Given the description of an element on the screen output the (x, y) to click on. 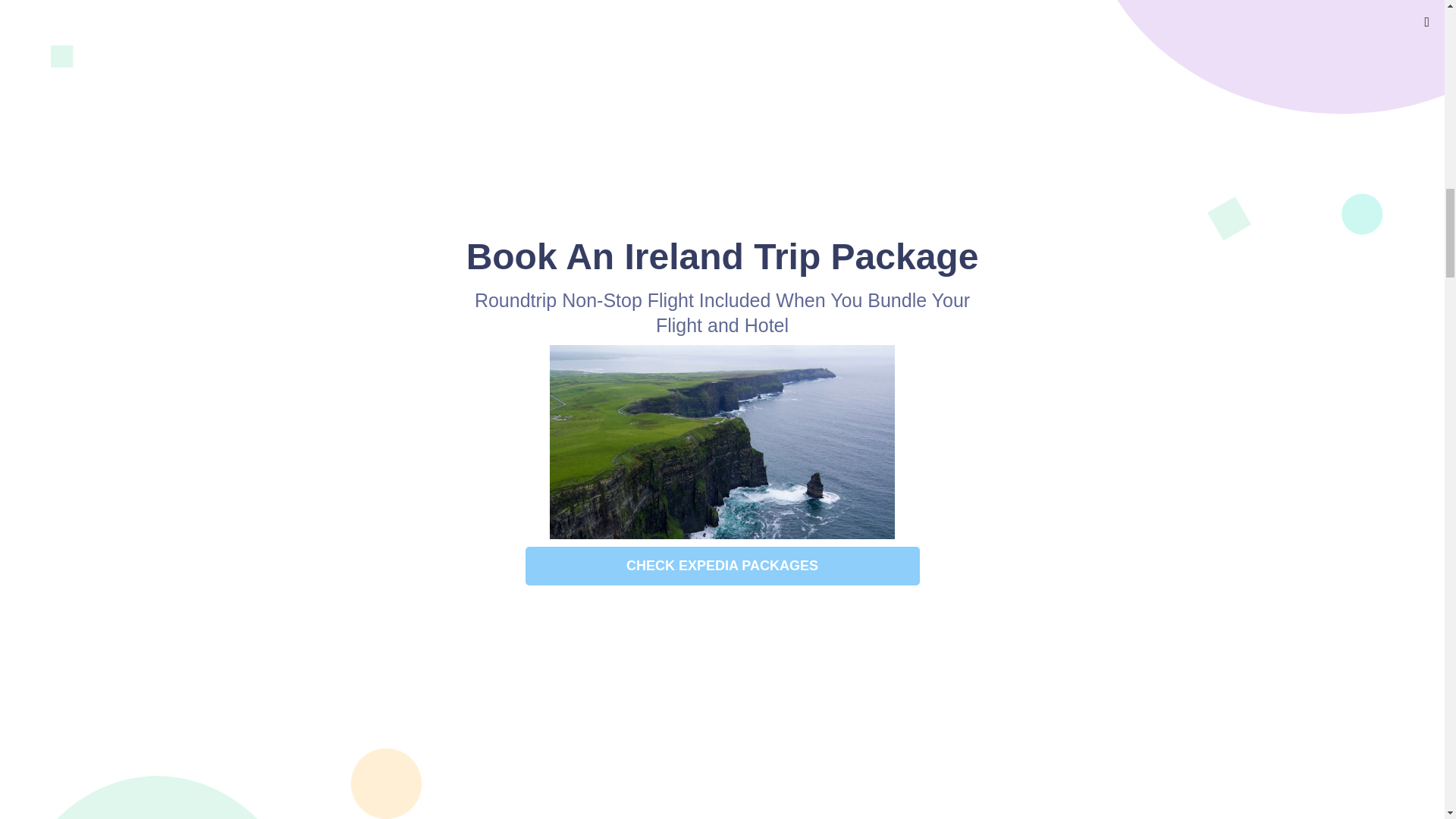
introducing Christianity to the Irish (542, 626)
patron saint of Ireland (887, 626)
